Given the description of an element on the screen output the (x, y) to click on. 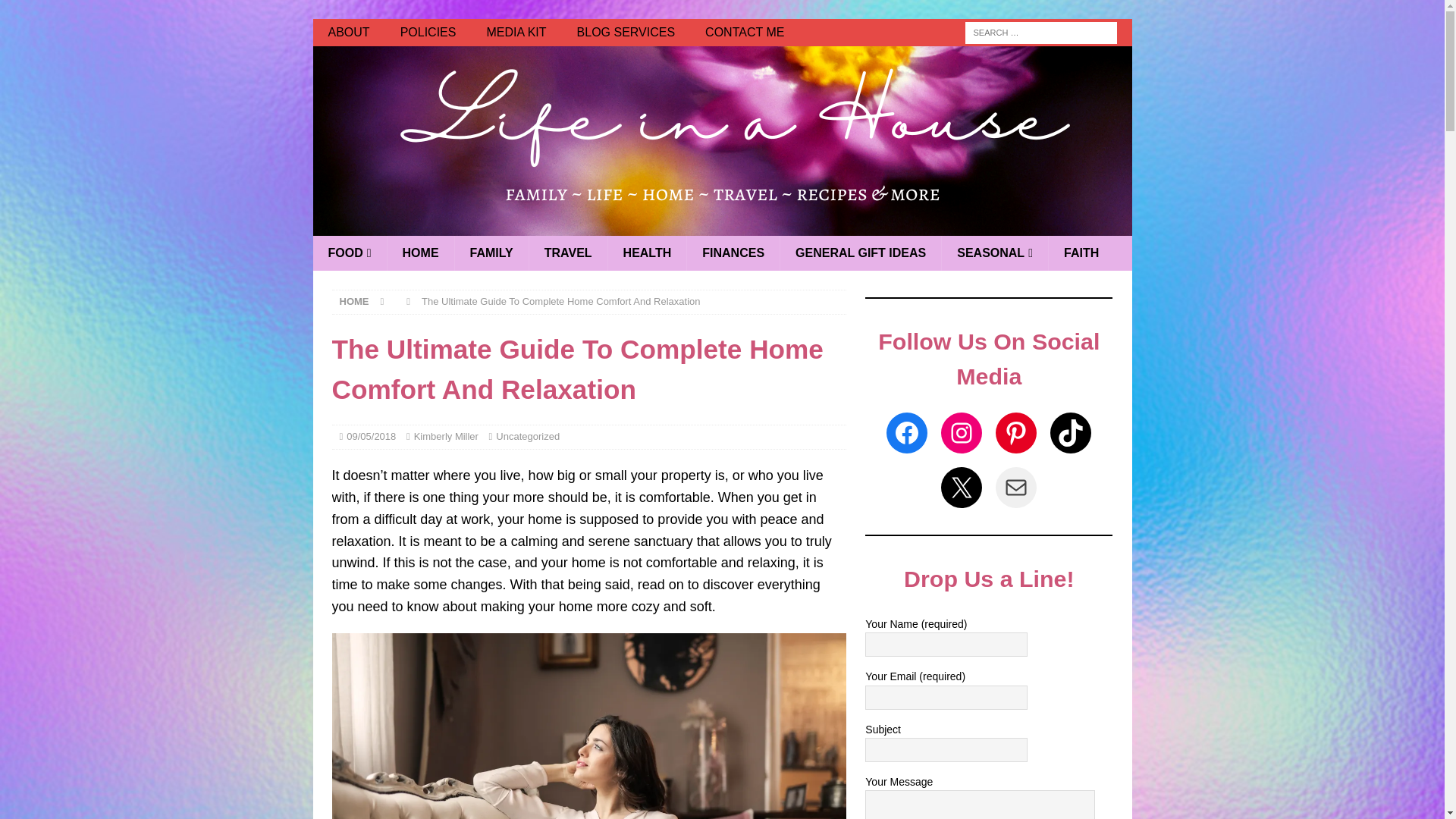
HOME (420, 253)
Life in a House (722, 223)
FAMILY (491, 253)
MEDIA KIT (515, 31)
ABOUT (348, 31)
Search (56, 11)
FINANCES (731, 253)
POLICIES (428, 31)
BLOG SERVICES (626, 31)
FOOD (349, 253)
GENERAL GIFT IDEAS (859, 253)
CONTACT ME (744, 31)
TRAVEL (567, 253)
HEALTH (647, 253)
